Given the description of an element on the screen output the (x, y) to click on. 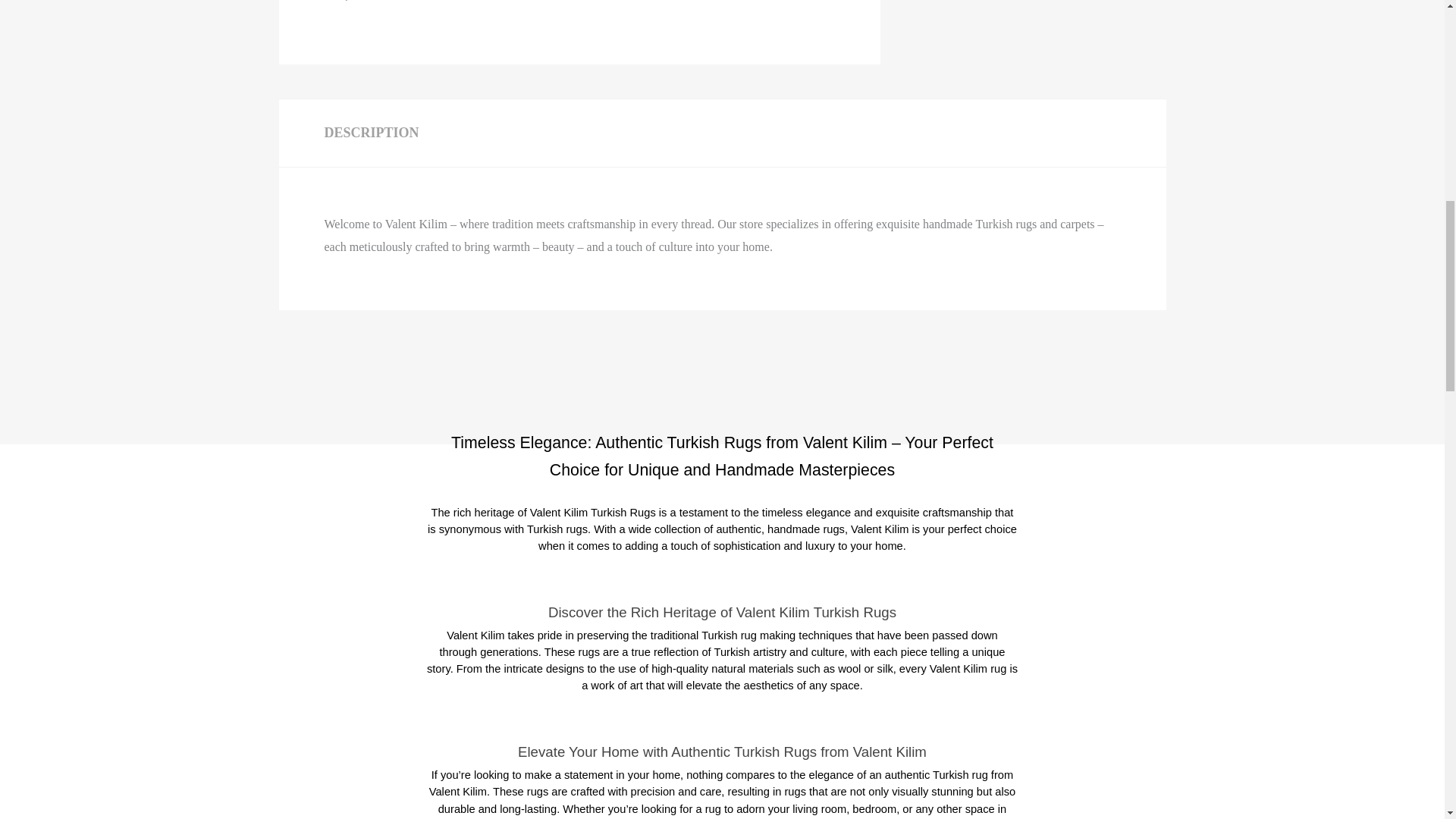
3001202465b8fbcfcb916.jpeg (376, 1)
